Given the description of an element on the screen output the (x, y) to click on. 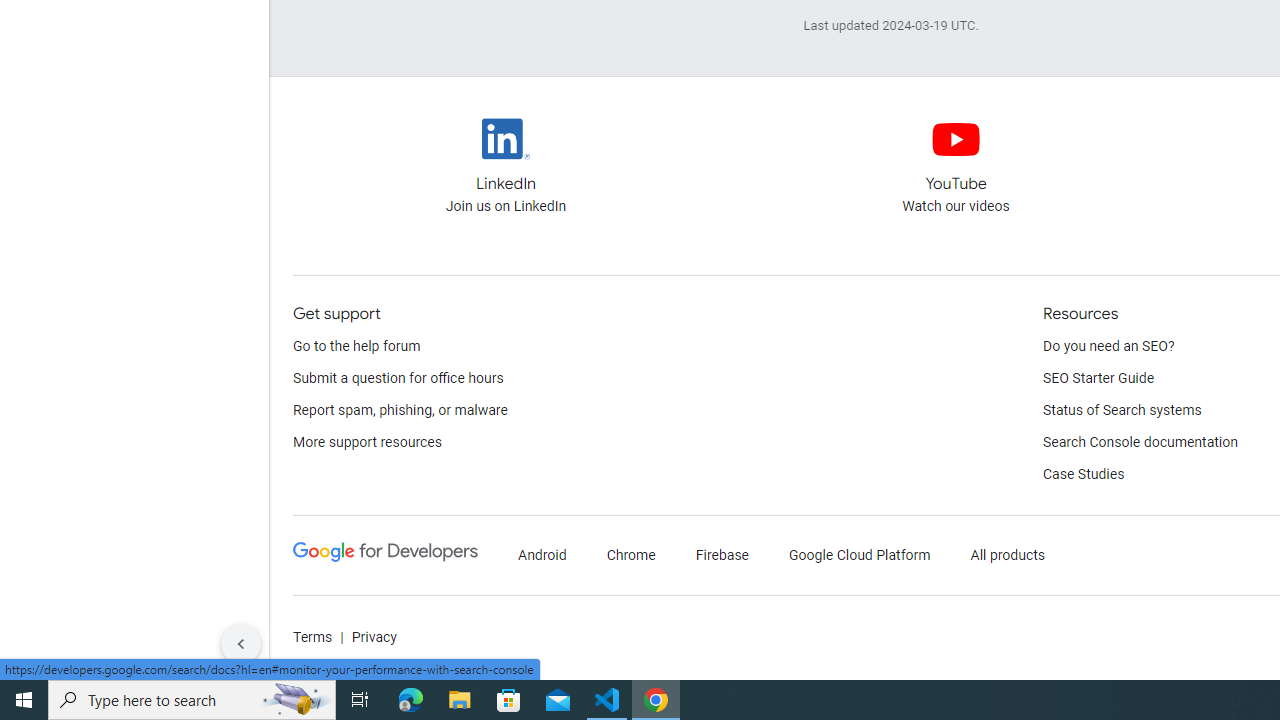
YouTube (955, 138)
More support resources (367, 442)
All products (1007, 555)
LinkedIn feed for Google Search Central (505, 156)
Status of Search systems (1122, 410)
Case Studies (1084, 475)
Report spam, phishing, or malware (400, 410)
SEO Starter Guide (1098, 378)
